Given the description of an element on the screen output the (x, y) to click on. 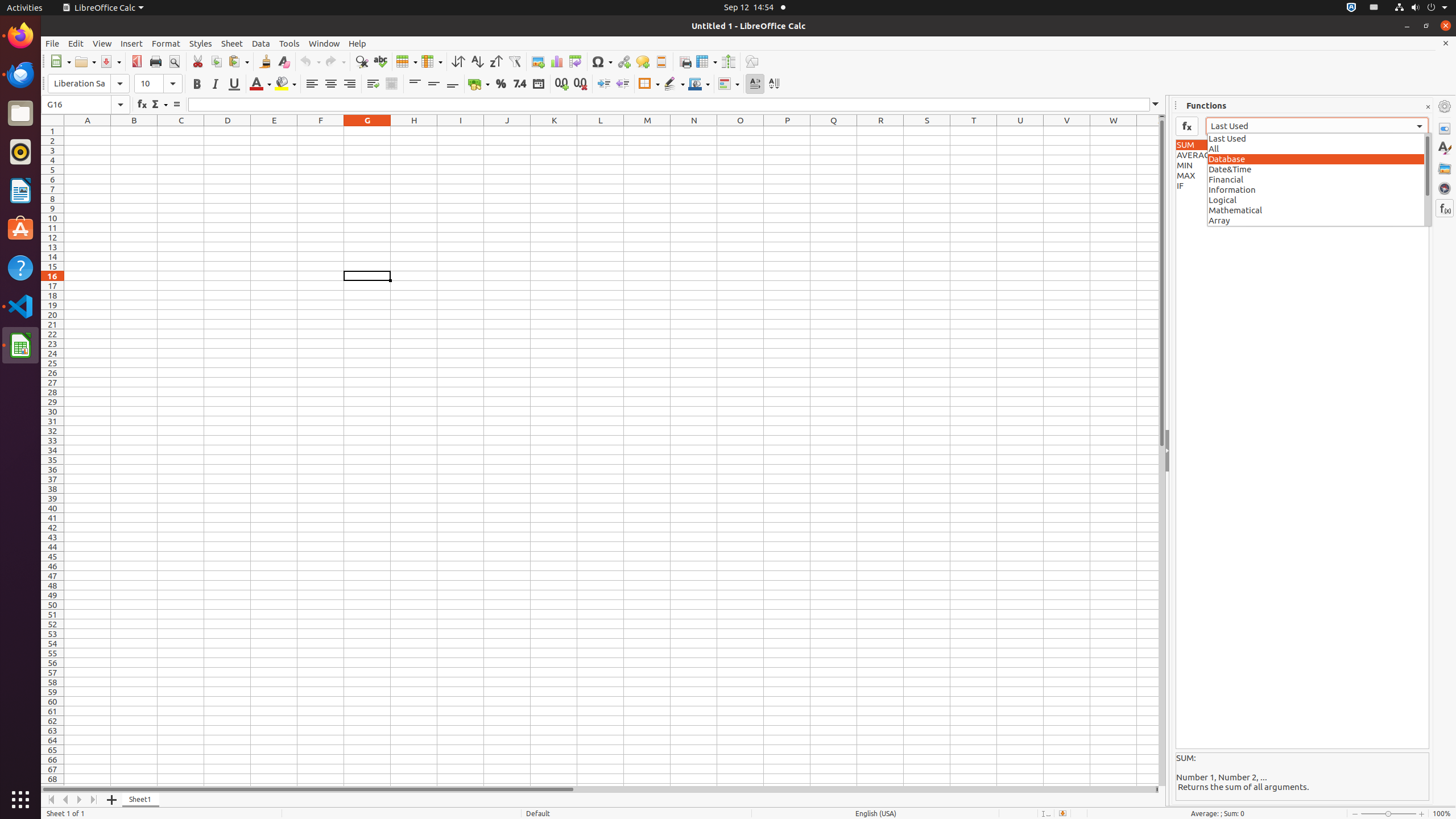
Align Top Element type: push-button (414, 83)
Rhythmbox Element type: push-button (20, 151)
Functions Element type: radio-button (1444, 208)
Visual Studio Code Element type: push-button (20, 306)
LibreOffice Calc Element type: menu (102, 7)
